Given the description of an element on the screen output the (x, y) to click on. 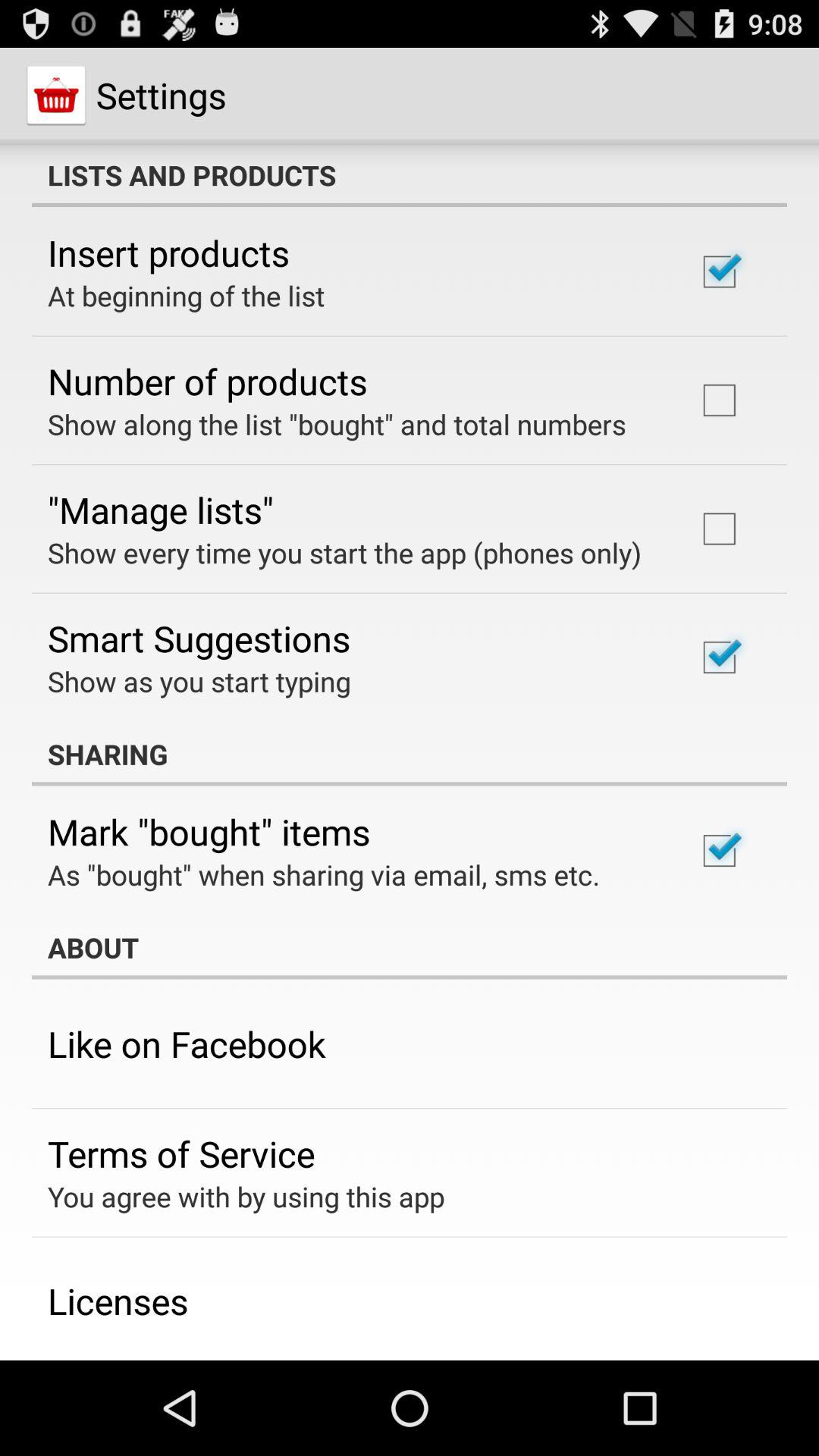
click lists and products item (409, 175)
